Given the description of an element on the screen output the (x, y) to click on. 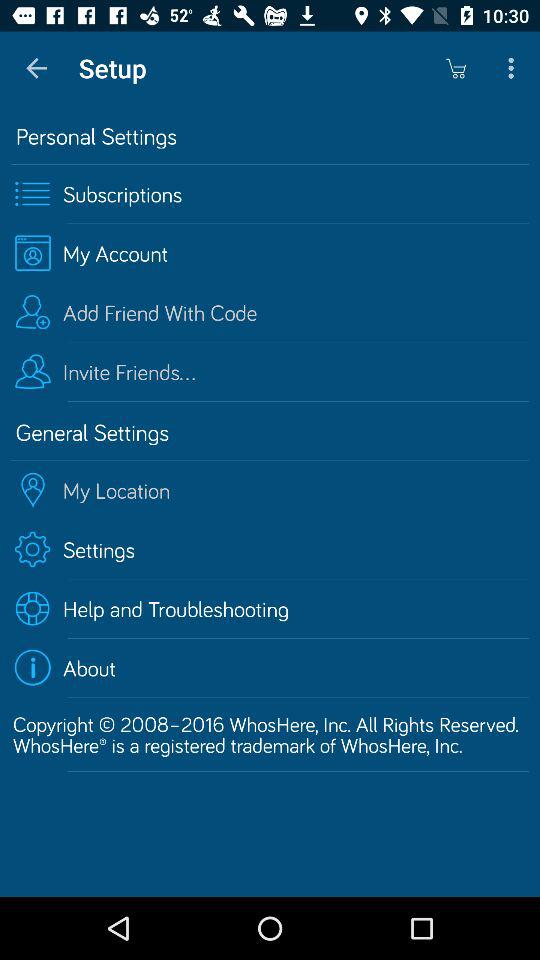
open the icon above personal settings icon (455, 67)
